Given the description of an element on the screen output the (x, y) to click on. 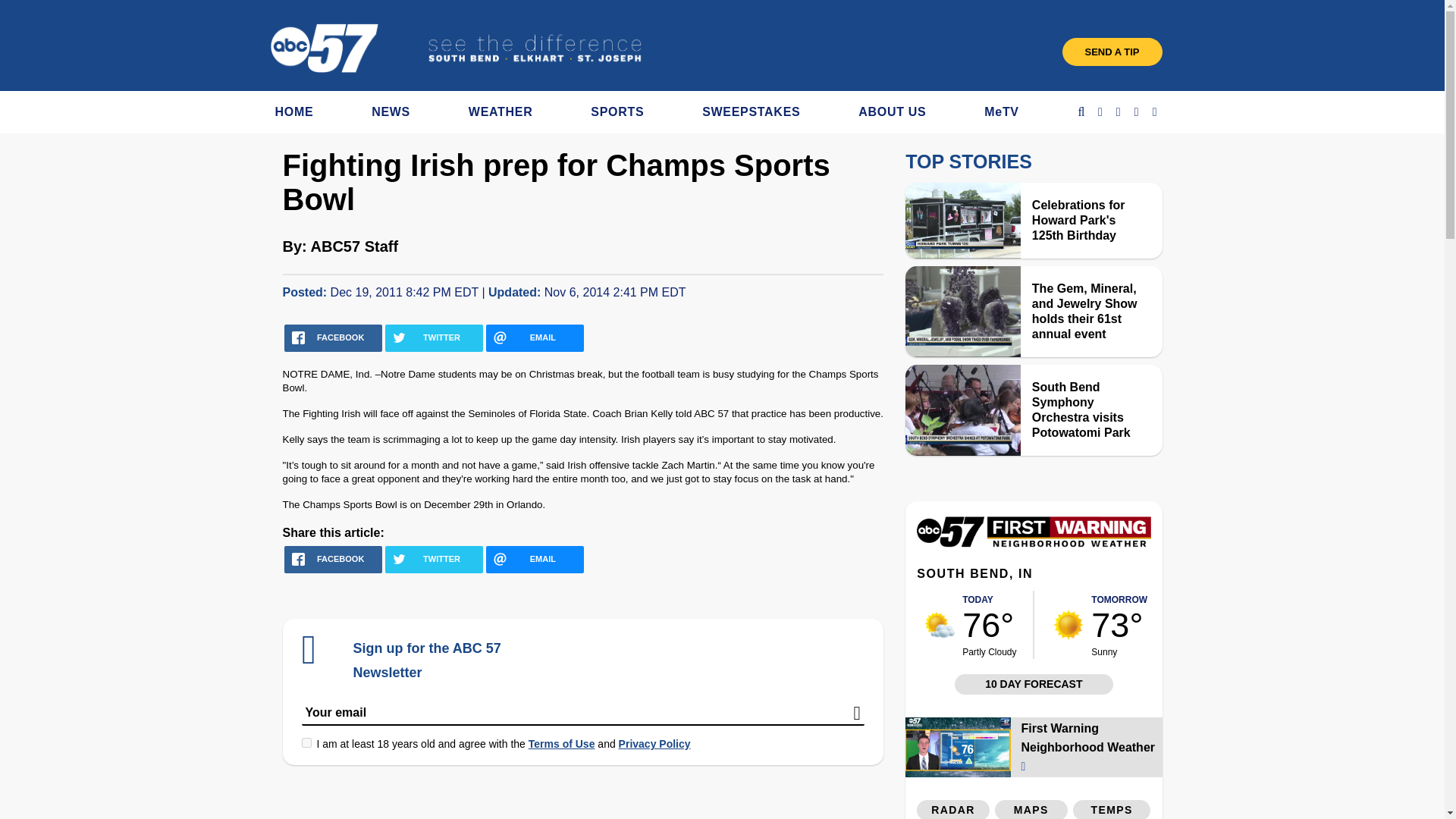
Weather (1033, 543)
on (306, 742)
weather (939, 624)
weather (1067, 624)
